Given the description of an element on the screen output the (x, y) to click on. 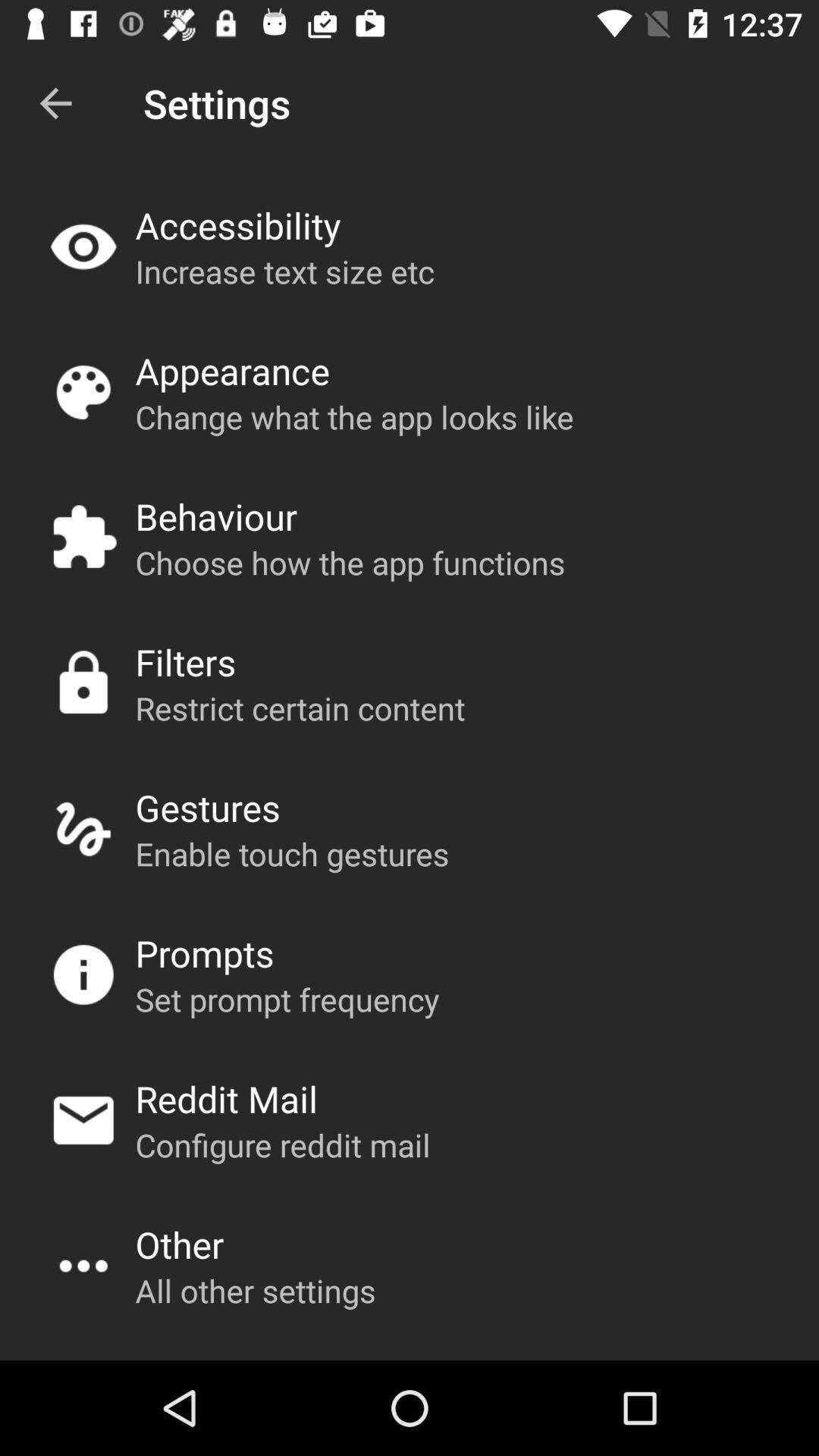
click increase text size app (284, 270)
